Given the description of an element on the screen output the (x, y) to click on. 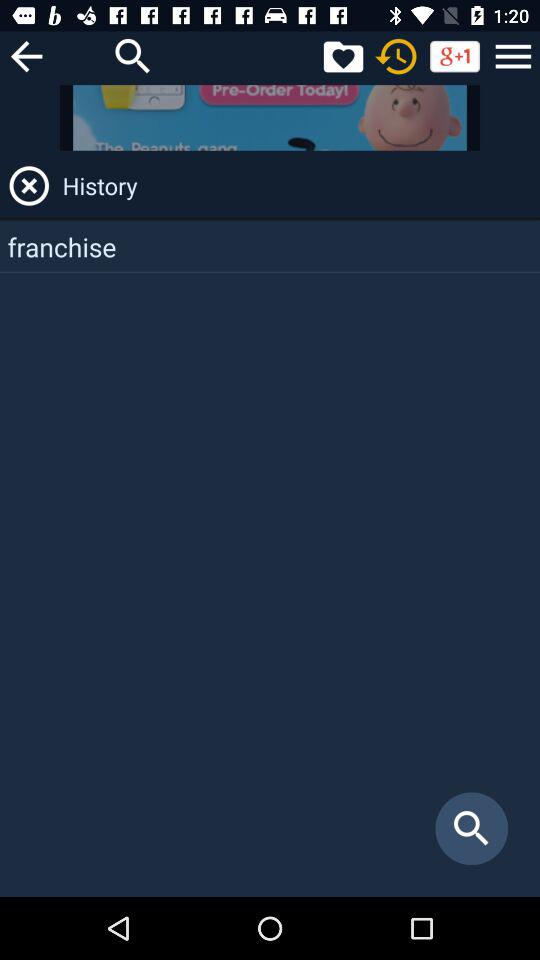
select the history (298, 185)
